Given the description of an element on the screen output the (x, y) to click on. 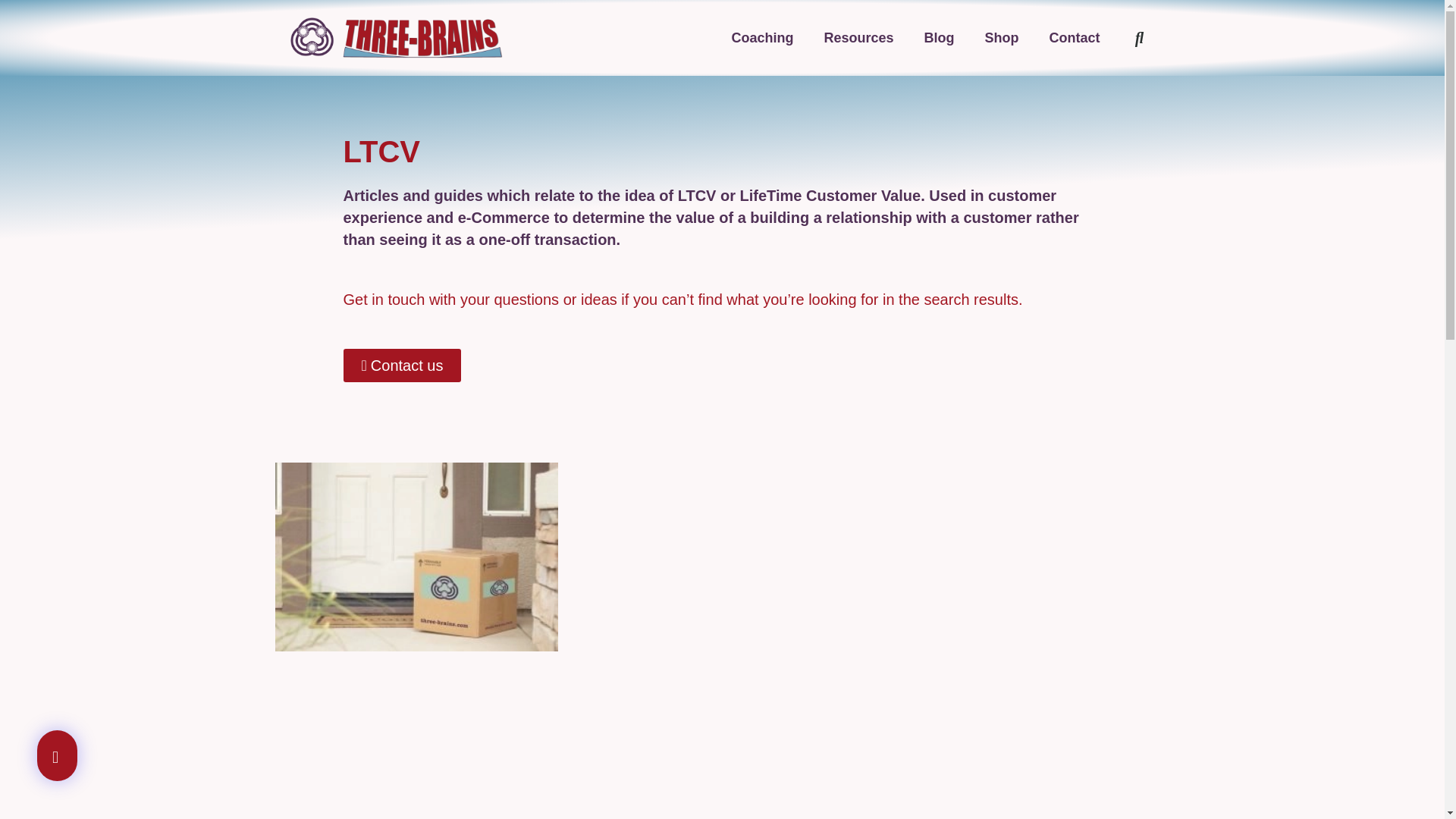
Contact (1074, 38)
Coaching (762, 38)
Resources (858, 38)
Skip to content (11, 31)
